Given the description of an element on the screen output the (x, y) to click on. 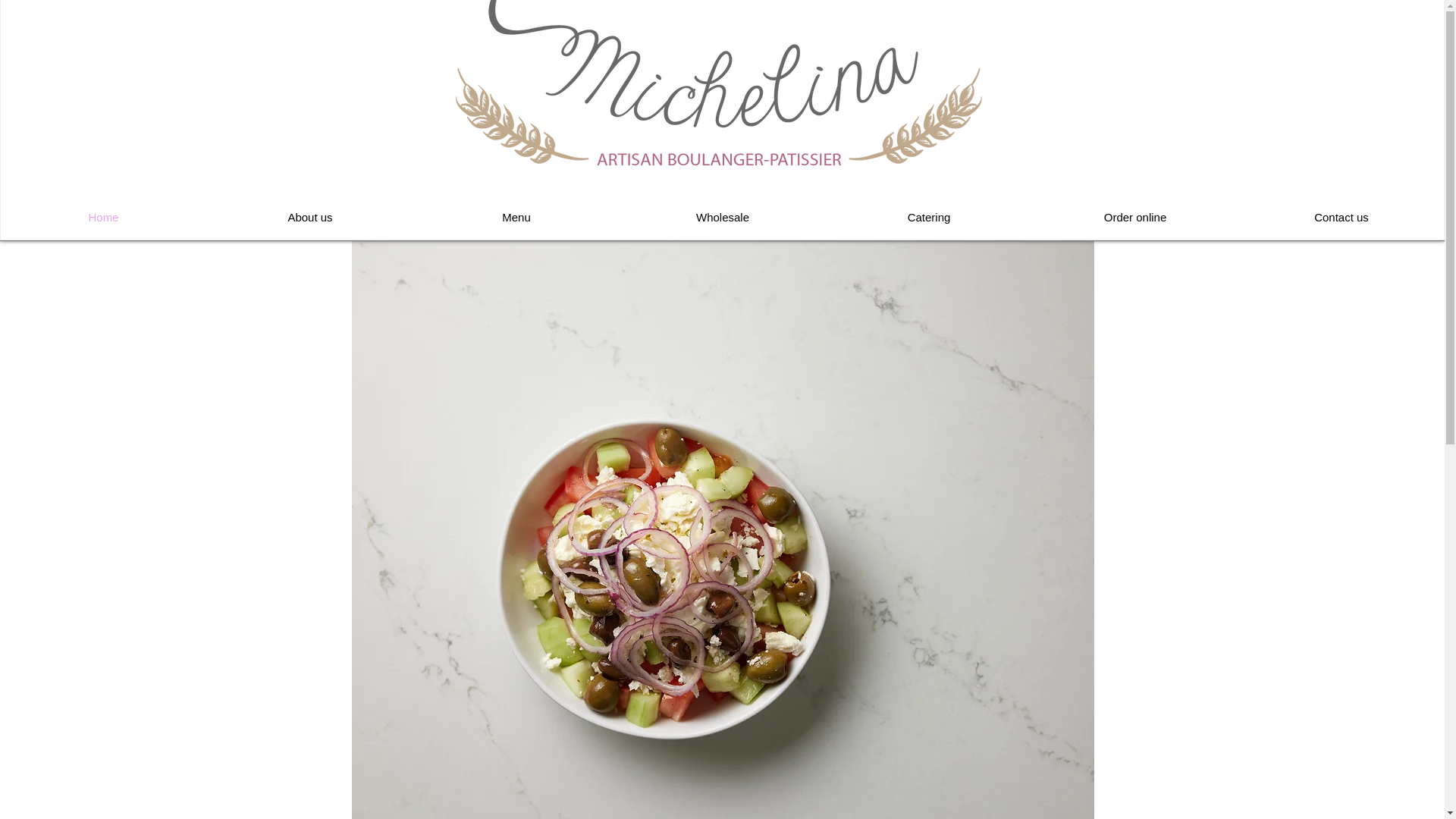
Catering (928, 216)
Menu (516, 216)
Order online (1135, 216)
LOGO1-01.png (721, 83)
Home (103, 216)
About us (309, 216)
Wholesale (722, 216)
